Given the description of an element on the screen output the (x, y) to click on. 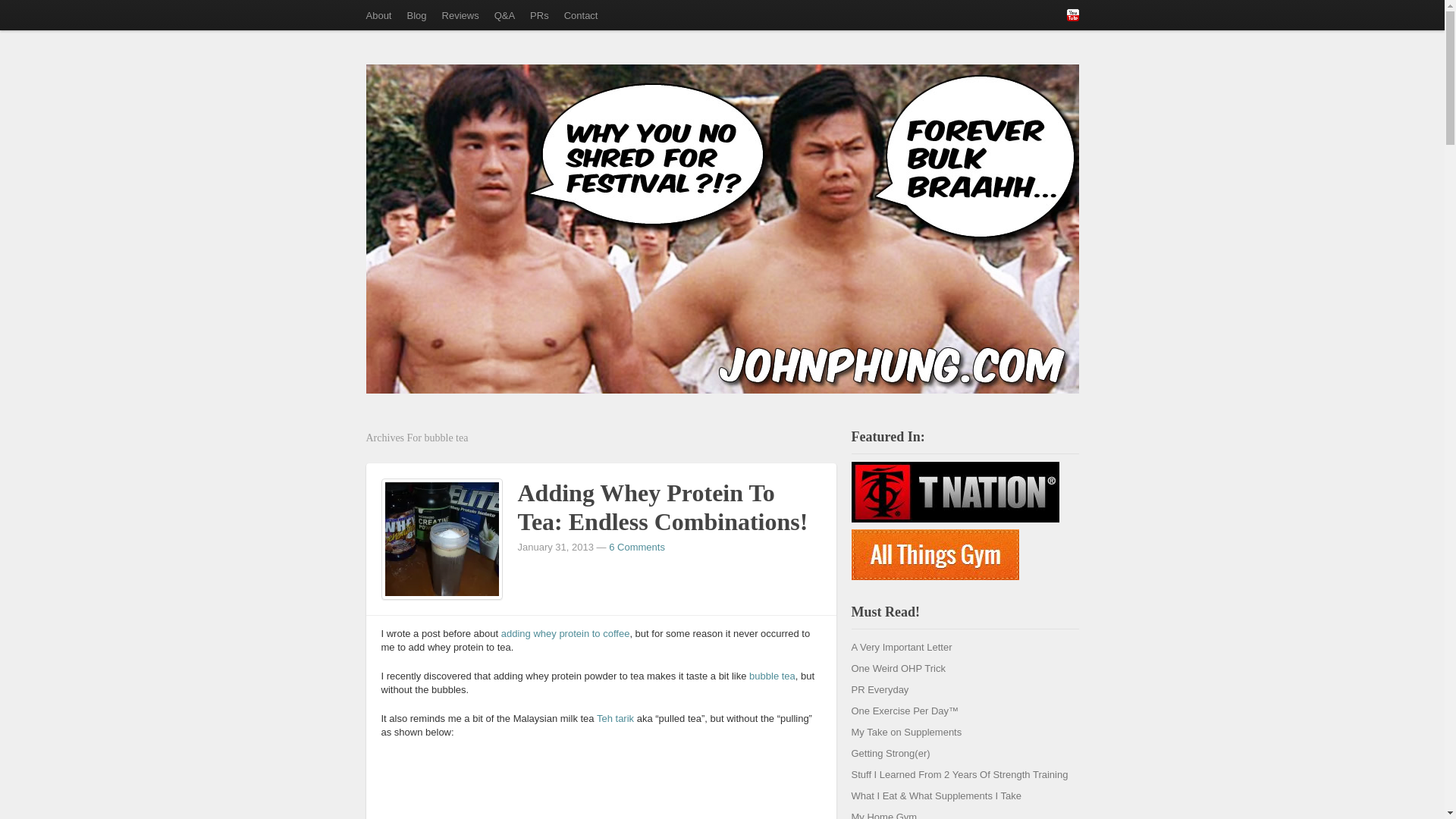
About (378, 15)
6 Comments (636, 546)
Adding Whey Protein To Tea: Endless Combinations! (442, 537)
Adding Whey Protein To Tea: Endless Combinations! (662, 507)
bubble tea (771, 675)
Teh tarik (614, 717)
John Phung (427, 122)
Blog (415, 15)
PRs (539, 15)
adding whey protein to coffee (565, 633)
